Given the description of an element on the screen output the (x, y) to click on. 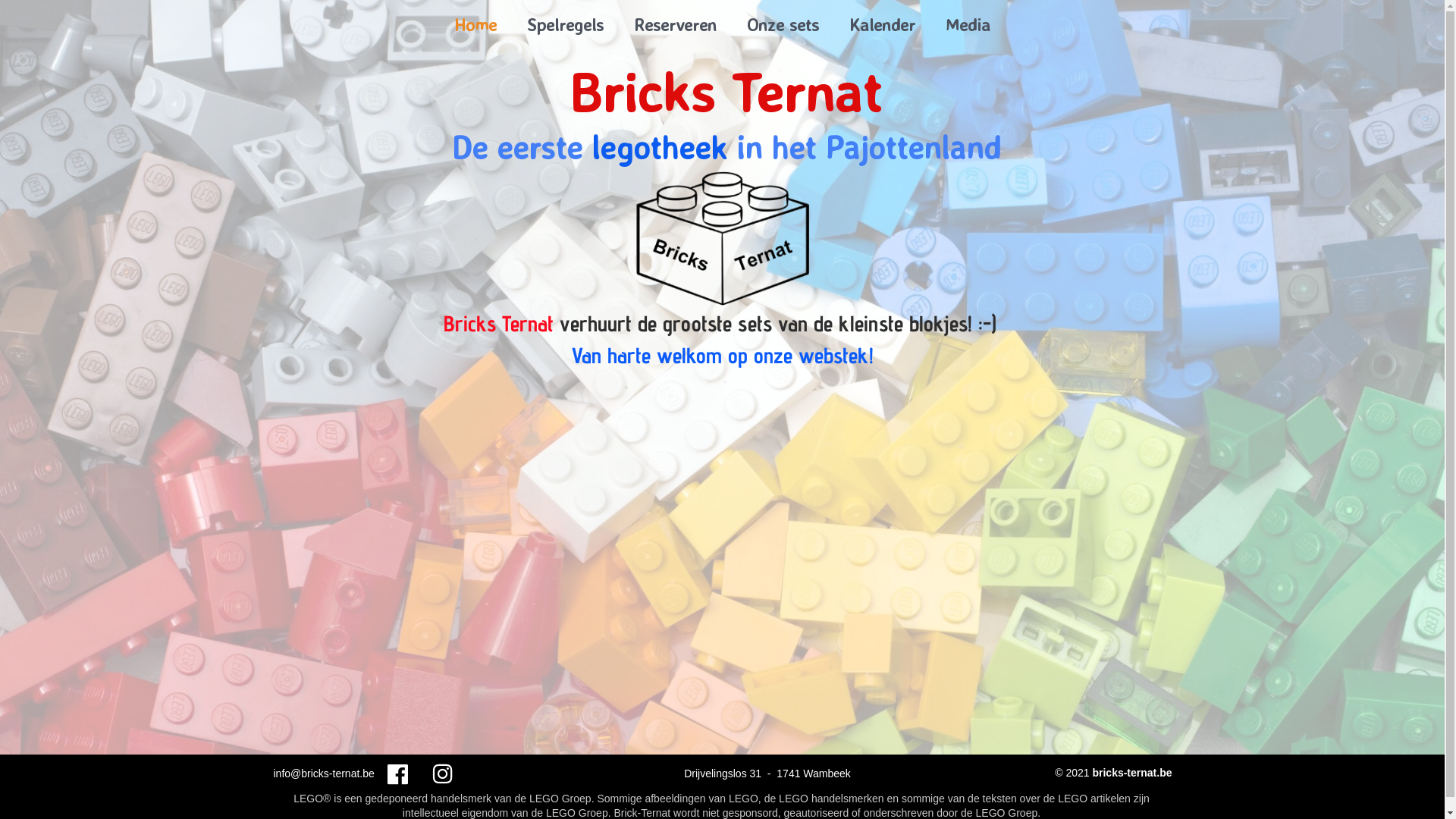
Media Element type: text (967, 24)
Onze sets Element type: text (782, 24)
bricks-ternat.be Element type: text (1131, 772)
Spelregels Element type: text (564, 24)
Kalender Element type: text (882, 24)
Home Element type: text (475, 24)
Reserveren Element type: text (674, 24)
YouTube video player Element type: hover (721, 594)
